Given the description of an element on the screen output the (x, y) to click on. 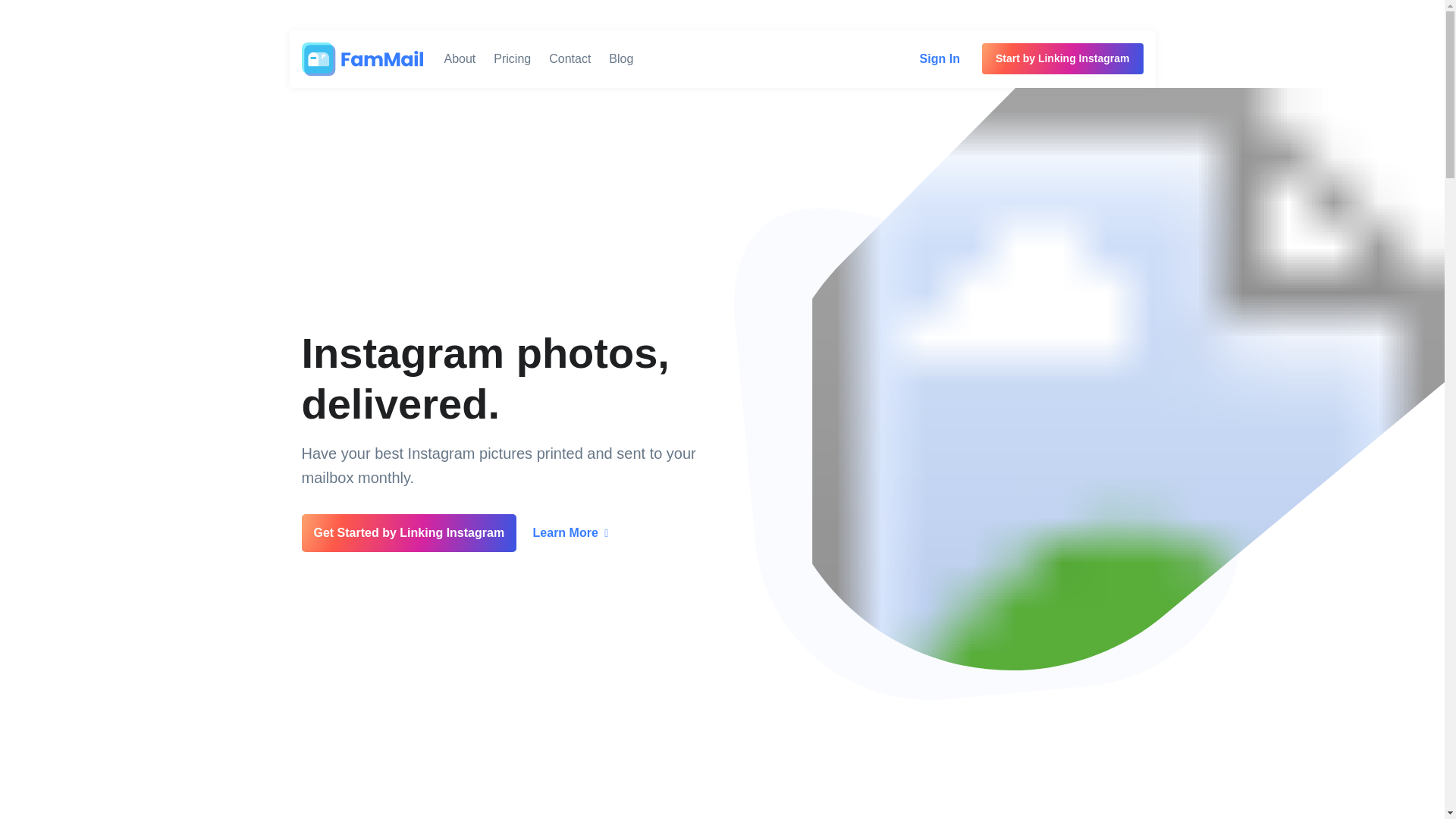
Pricing (512, 58)
Contact (569, 58)
Learn More (570, 532)
Get Started by Linking Instagram (408, 533)
Sign In (939, 58)
Contact (569, 58)
About (459, 58)
Pricing (512, 58)
About (459, 58)
Start by Linking Instagram (1061, 58)
Learn More (570, 532)
